Given the description of an element on the screen output the (x, y) to click on. 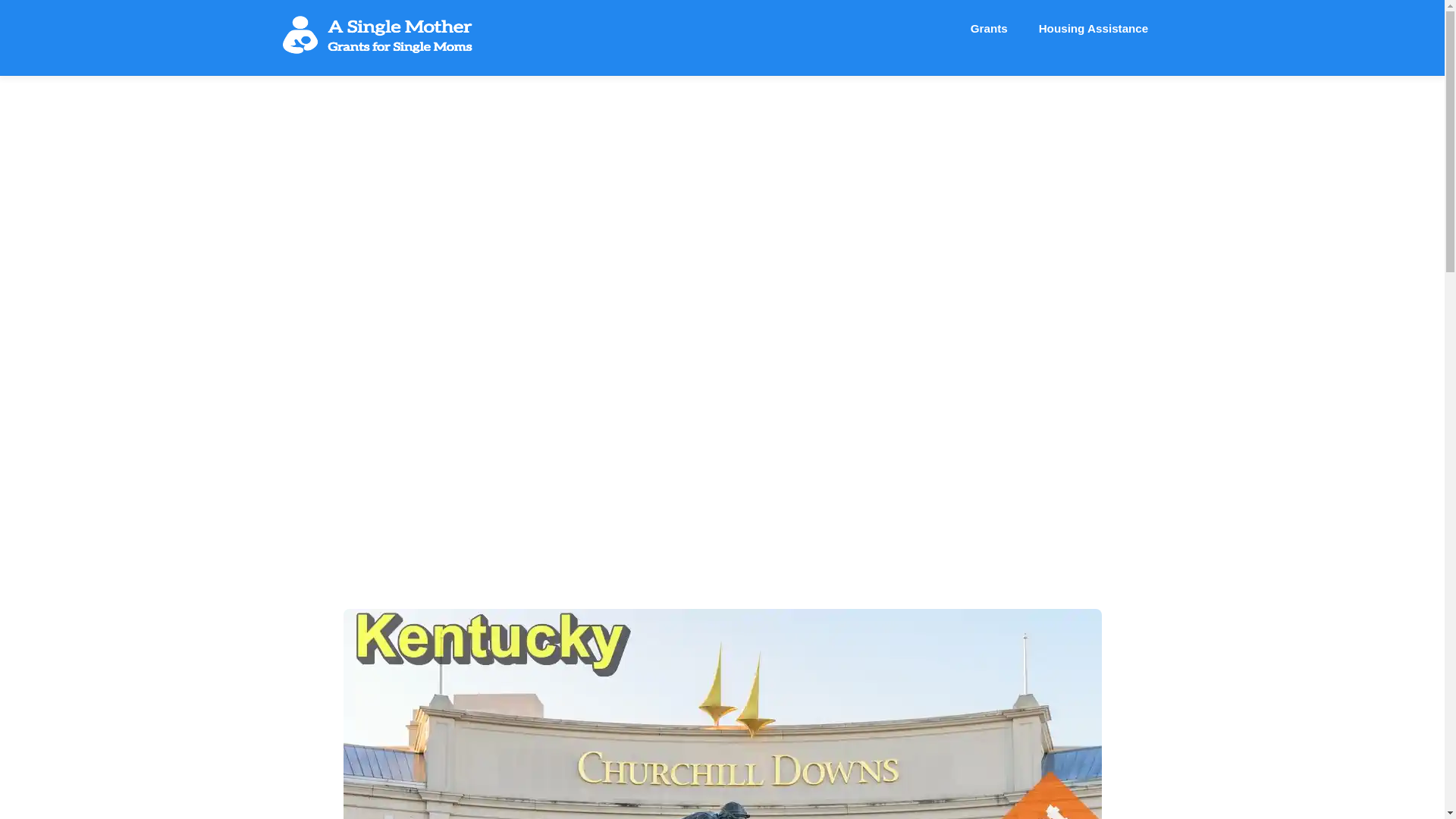
Housing Assistance (1093, 28)
Advertisement (721, 28)
